Given the description of an element on the screen output the (x, y) to click on. 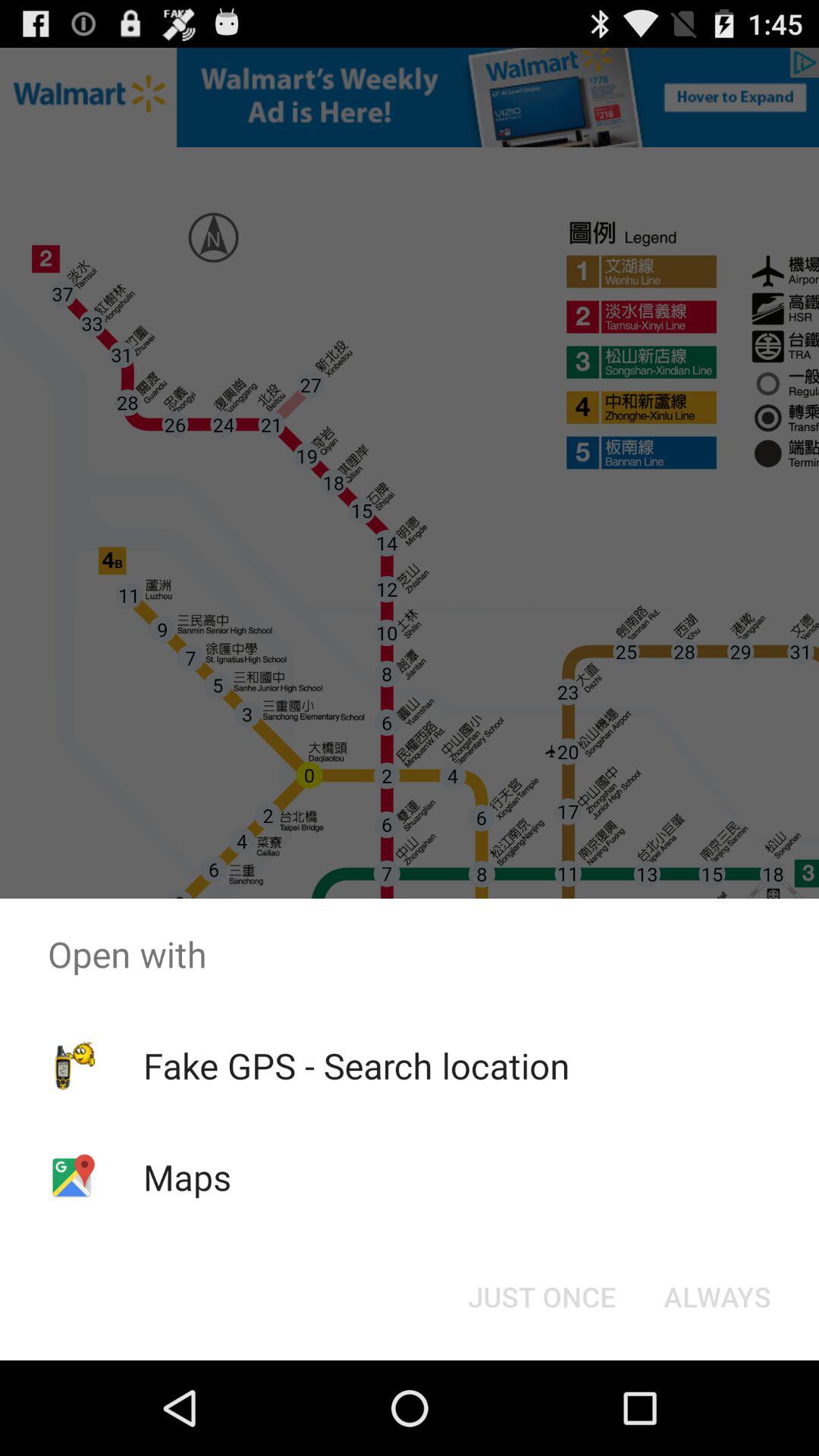
open the just once icon (541, 1296)
